Given the description of an element on the screen output the (x, y) to click on. 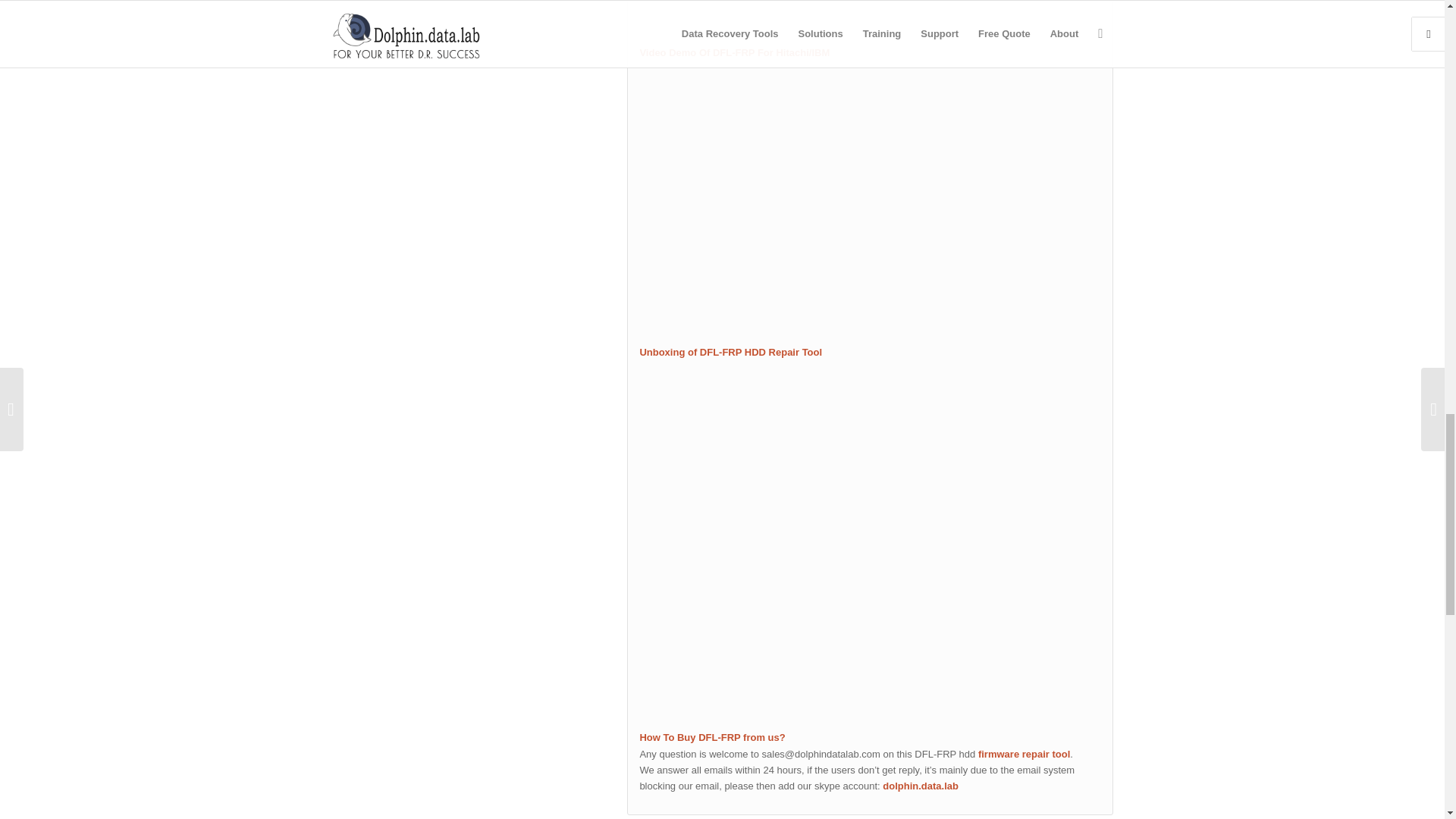
DFL WD Firmware Repair Version 2.63 Quick Video Demo (869, 14)
